Given the description of an element on the screen output the (x, y) to click on. 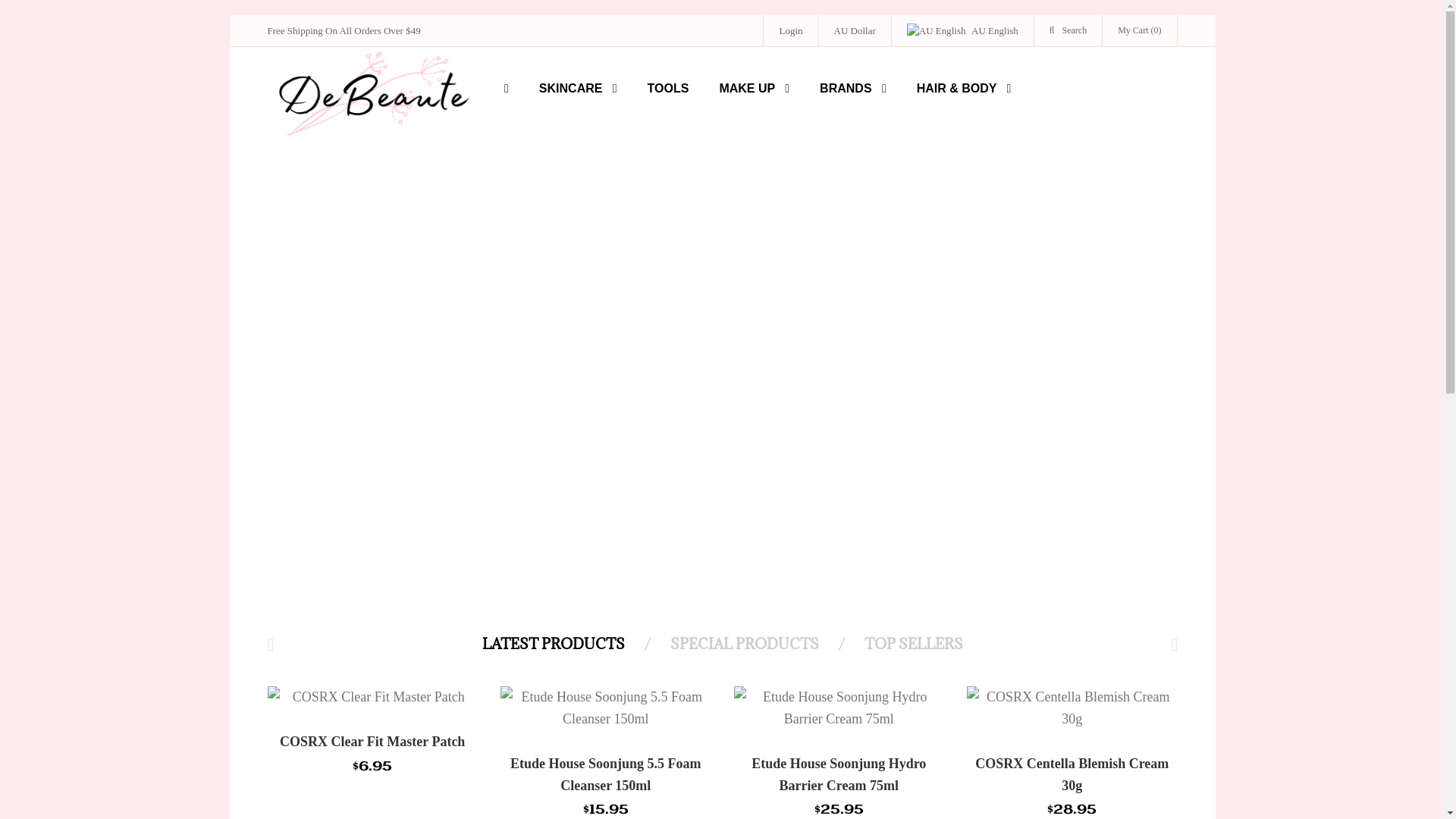
AU English Element type: text (962, 30)
SPECIAL PRODUCTS Element type: text (740, 643)
LATEST PRODUCTS Element type: text (553, 644)
AU Dollar Element type: text (854, 30)
TOP SELLERS Element type: text (909, 643)
MAKE UP    Element type: text (753, 88)
HAIR & BODY    Element type: text (963, 88)
COSRX Clear Fit Master Patch Element type: text (371, 741)
COSRX Centella Blemish Cream 30g Element type: text (1071, 774)
BRANDS    Element type: text (852, 88)
De Beaute Element type: hover (371, 93)
Etude House Soonjung Hydro Barrier Cream 75ml Element type: text (838, 774)
Etude House Soonjung 5.5 Foam Cleanser 150ml Element type: text (605, 774)
SKINCARE    Element type: text (578, 88)
AU English Element type: hover (936, 31)
TOOLS Element type: text (668, 88)
